Given the description of an element on the screen output the (x, y) to click on. 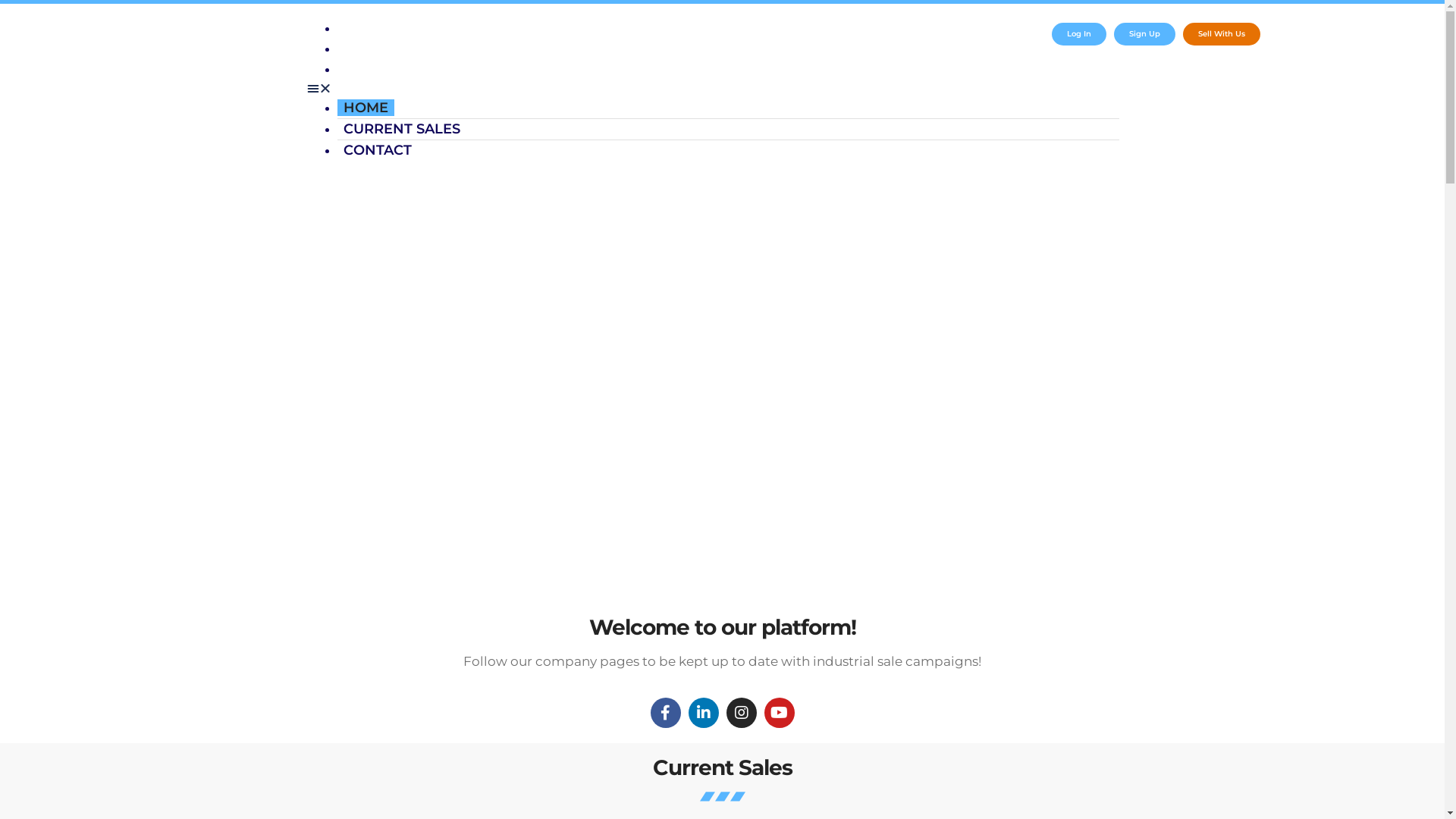
Log In Element type: text (1078, 33)
Contact Element type: text (373, 68)
Current Sales Element type: text (392, 48)
CURRENT SALES Element type: text (401, 128)
Sign Up Element type: text (1144, 33)
Sell With Us Element type: text (1221, 33)
CONTACT Element type: text (377, 149)
Home Element type: text (367, 27)
HOME Element type: text (365, 107)
